Given the description of an element on the screen output the (x, y) to click on. 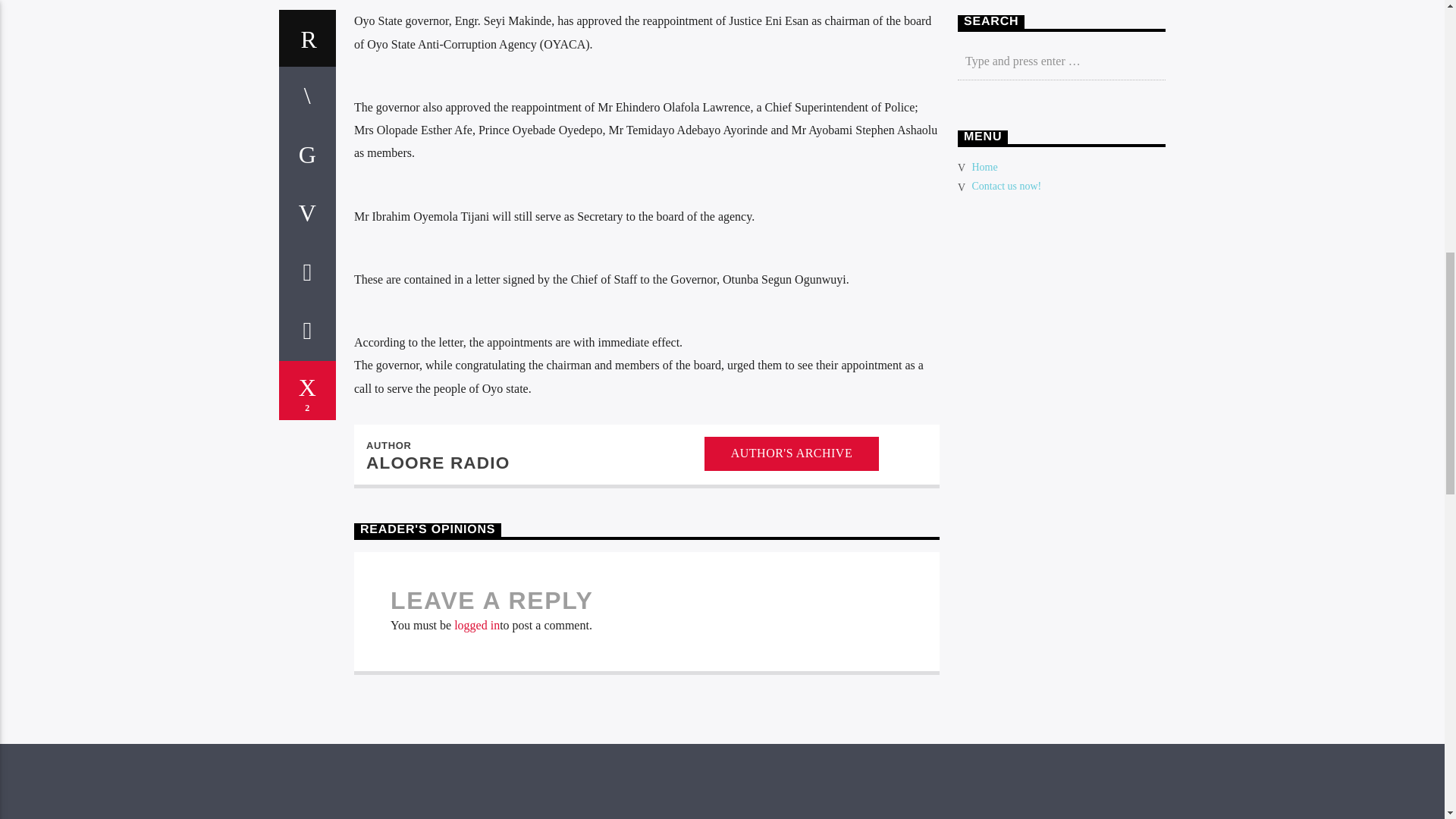
Contact us now! (1007, 185)
Home (984, 166)
ALOORE RADIO (437, 462)
2 (307, 390)
logged in (476, 625)
AUTHOR'S ARCHIVE (791, 453)
